Given the description of an element on the screen output the (x, y) to click on. 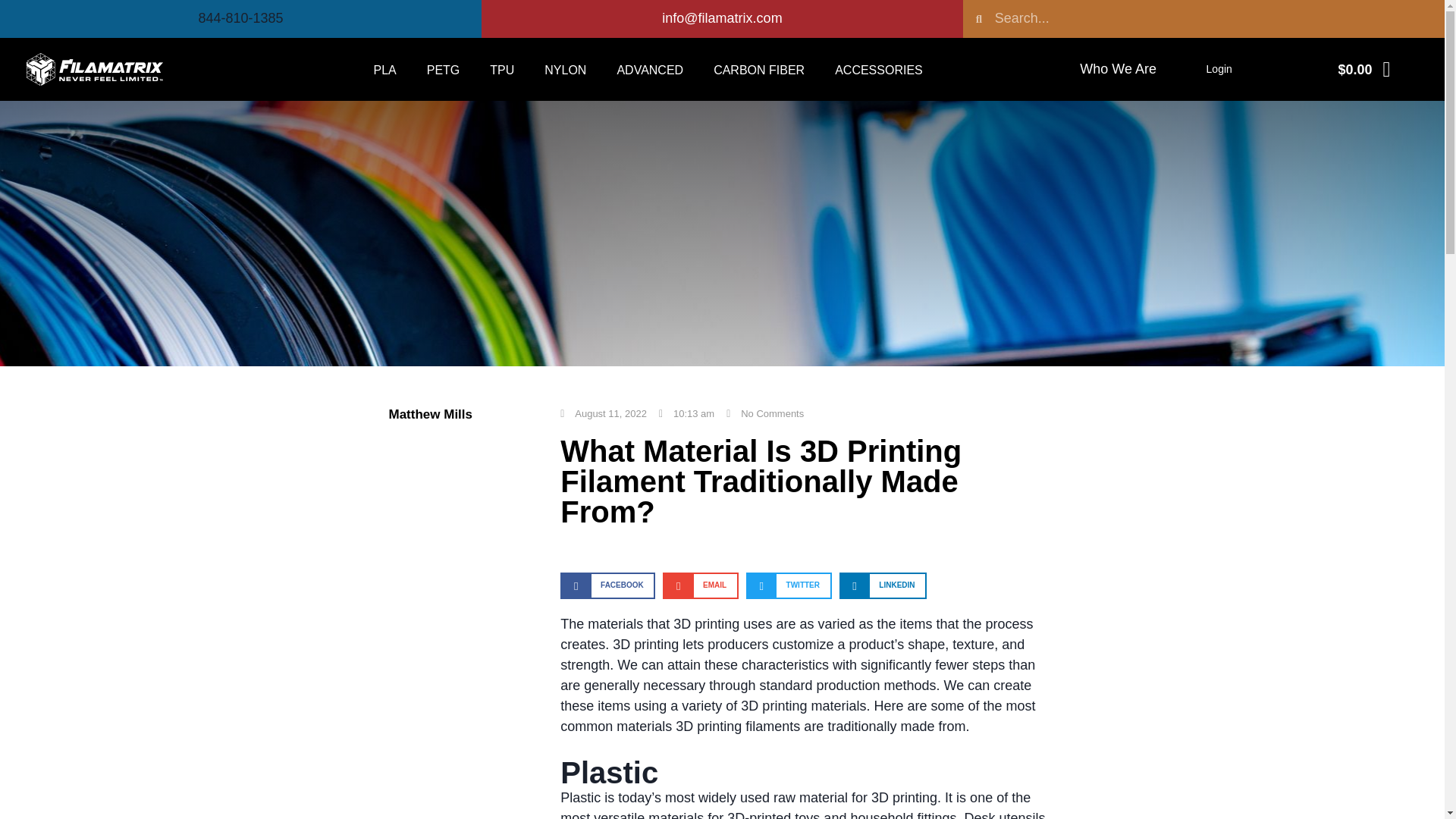
PLA (384, 69)
TPU (501, 69)
ADVANCED (649, 69)
ACCESSORIES (878, 69)
844-810-1385 (240, 17)
Login (1219, 68)
Who We Are (1118, 68)
PETG (444, 69)
CARBON FIBER (758, 69)
NYLON (565, 69)
